Given the description of an element on the screen output the (x, y) to click on. 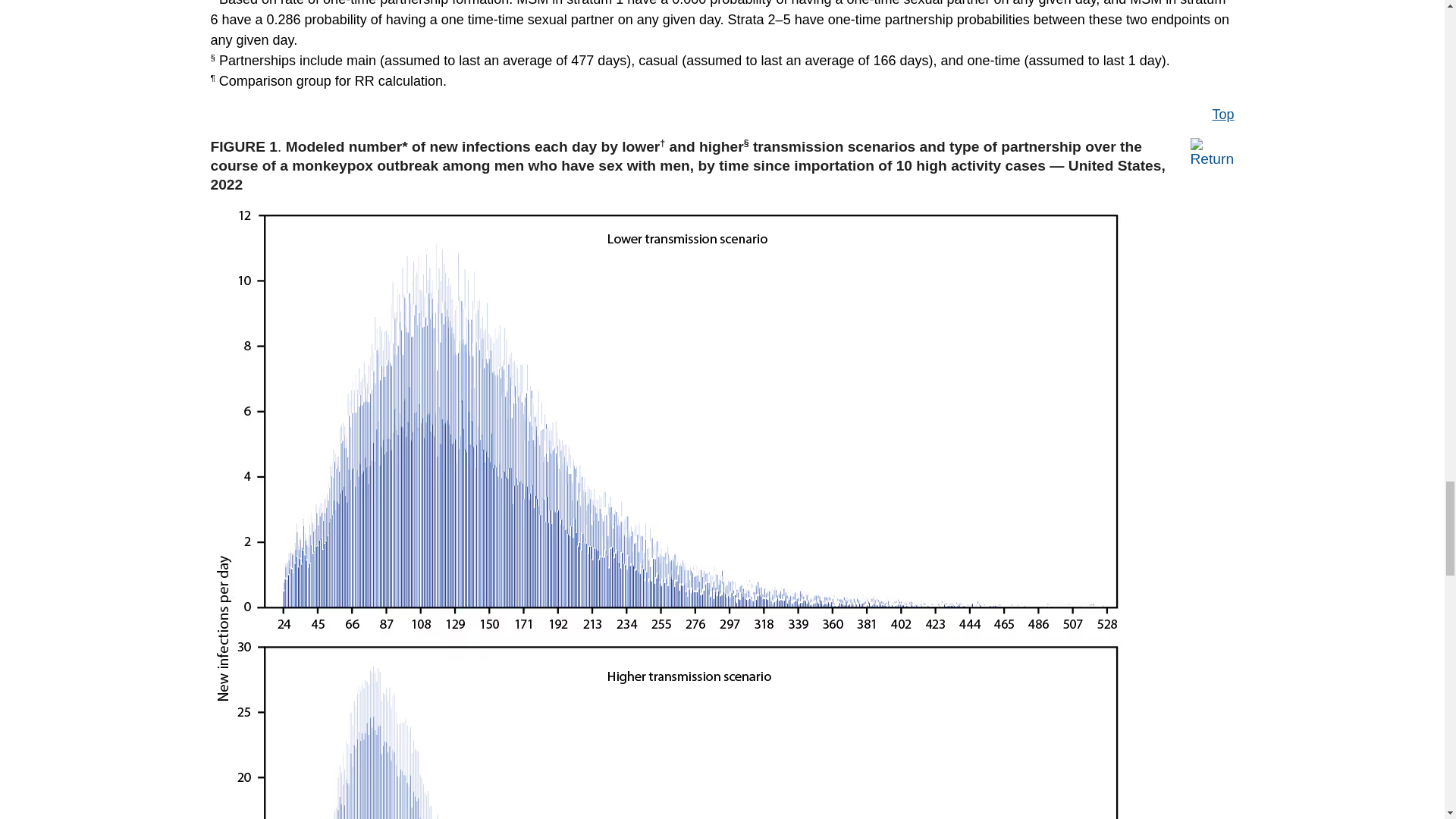
Return to your place in the text (1212, 150)
